Given the description of an element on the screen output the (x, y) to click on. 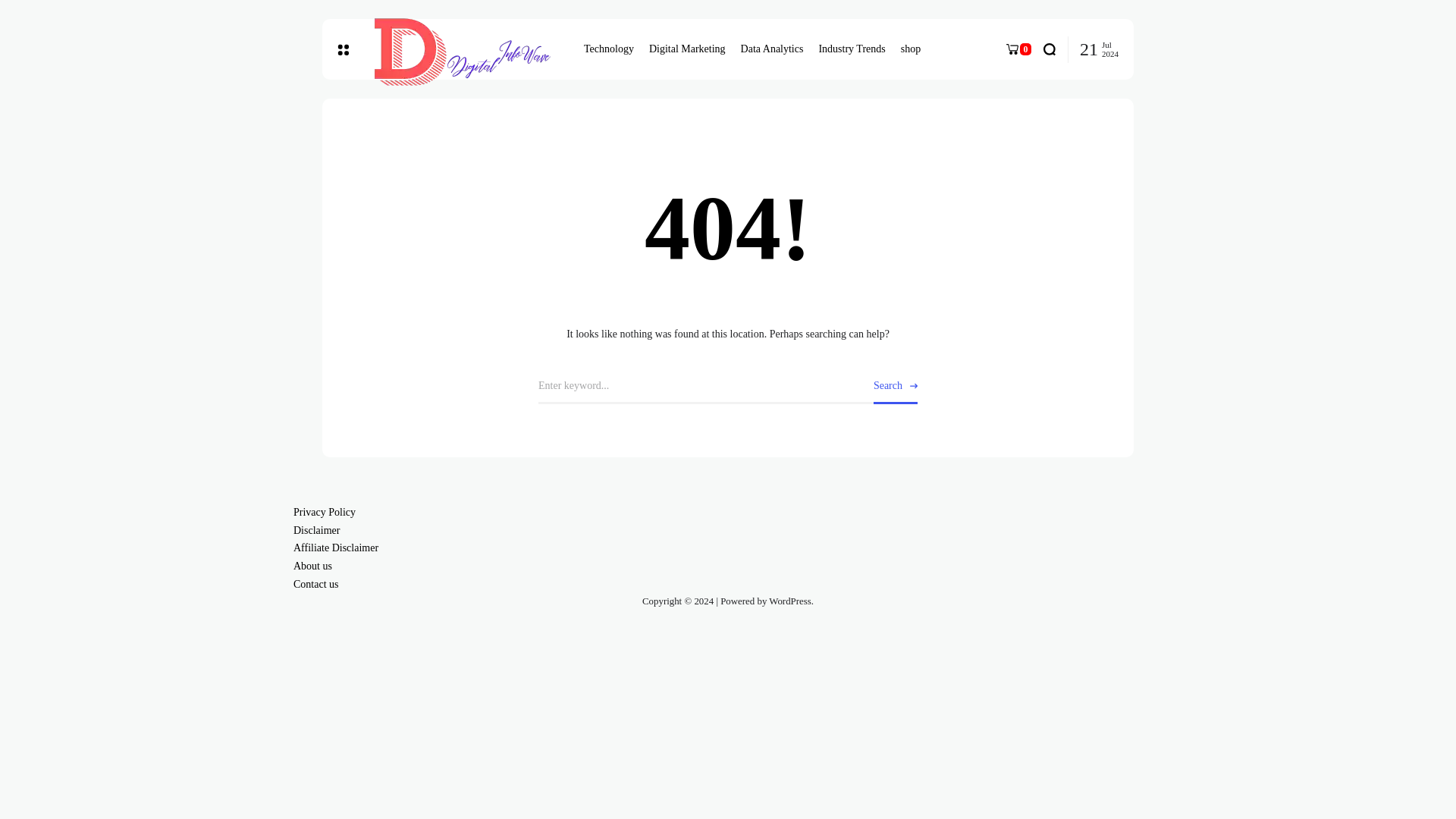
0 (1018, 49)
Digital Marketing (687, 48)
Industry Trends (851, 48)
Disclaimer (316, 530)
Cart (1018, 49)
Affiliate Disclaimer (336, 547)
Contact us (316, 583)
Privacy Policy (324, 511)
Data Analytics (772, 48)
Search (895, 387)
About us (312, 565)
